Given the description of an element on the screen output the (x, y) to click on. 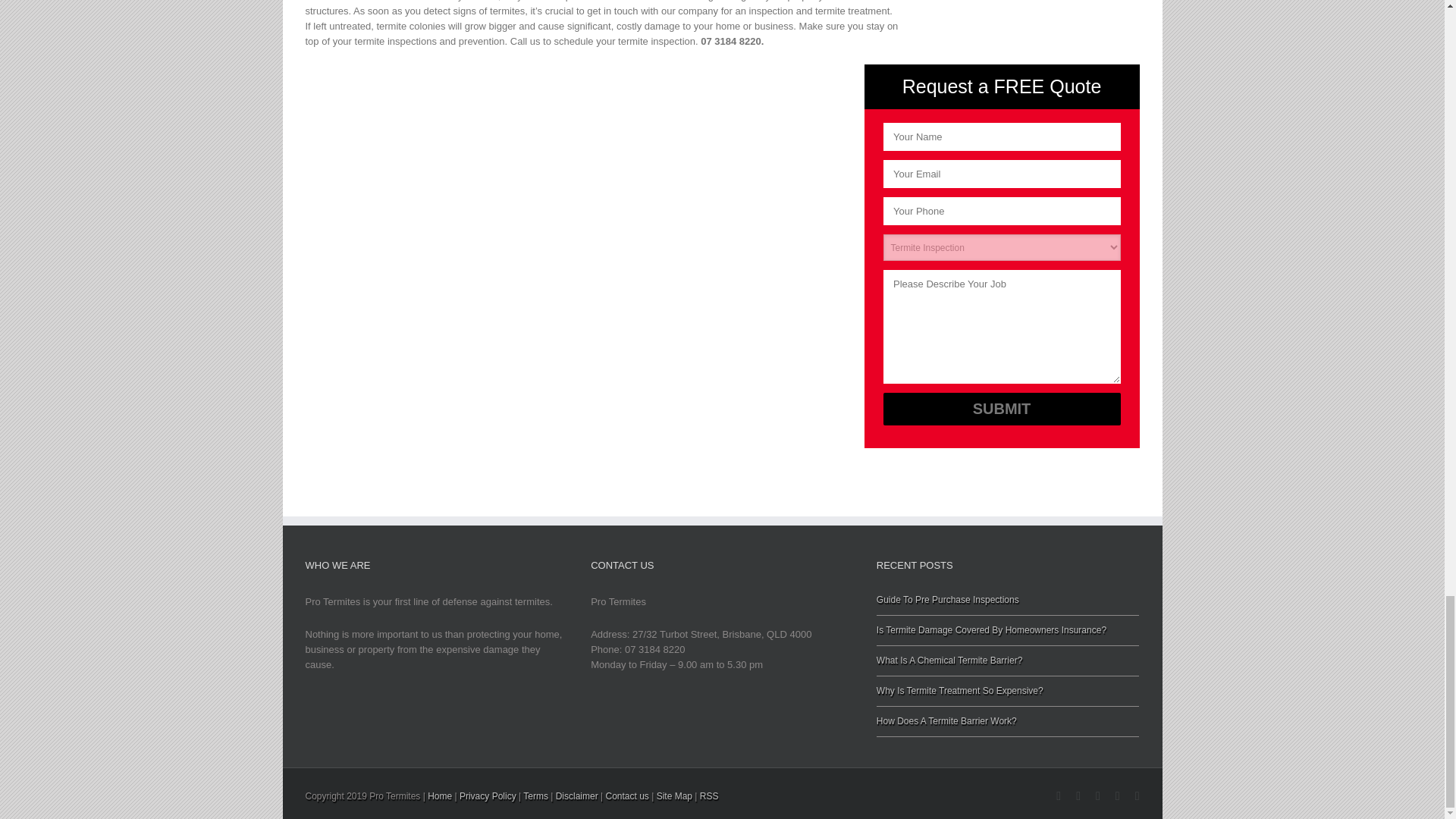
SUBMIT (1000, 409)
